Given the description of an element on the screen output the (x, y) to click on. 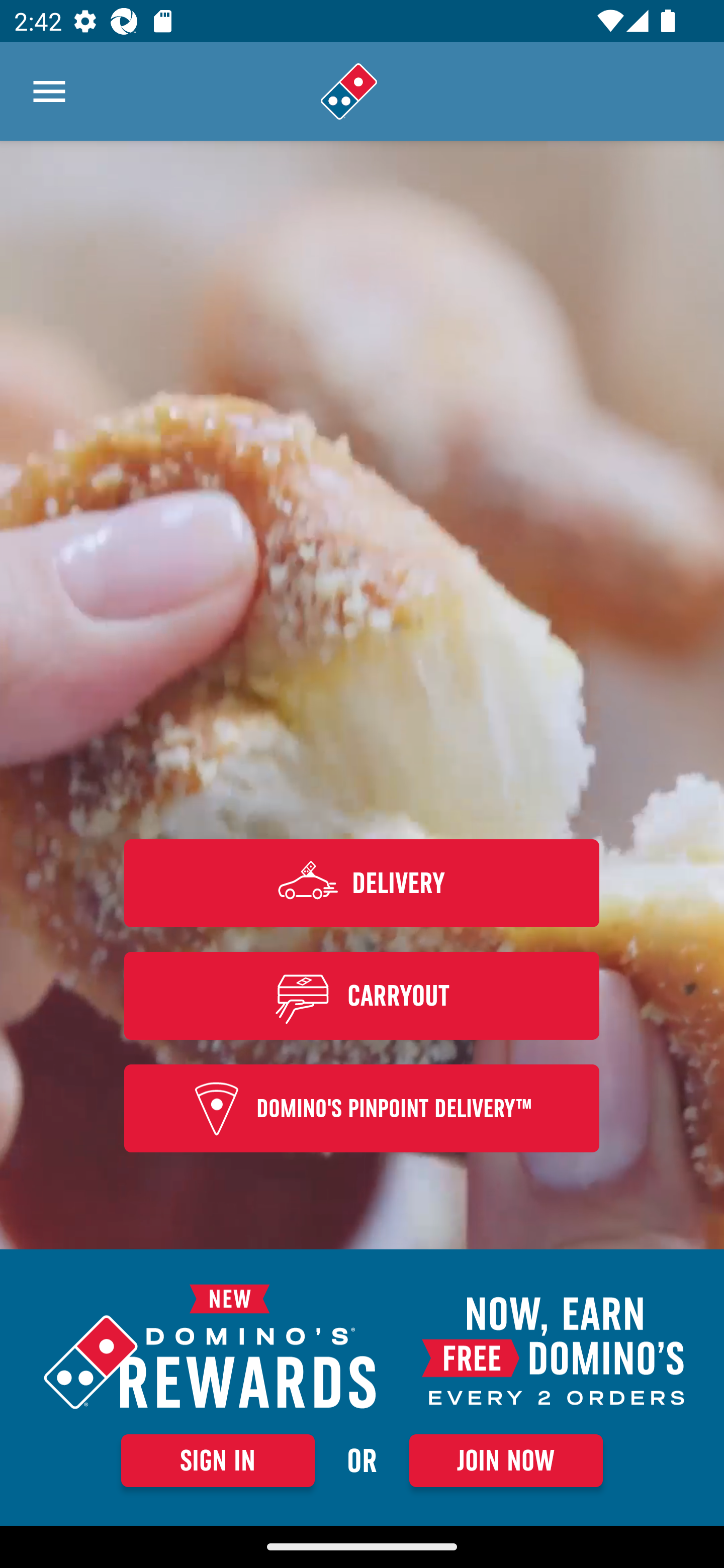
Expand Menu (49, 91)
DELIVERY (361, 882)
CARRYOUT (361, 995)
DOMINO'S PINPOINT DELIVERY™ (361, 1108)
SIGN IN (217, 1460)
JOIN NOW (506, 1460)
